Given the description of an element on the screen output the (x, y) to click on. 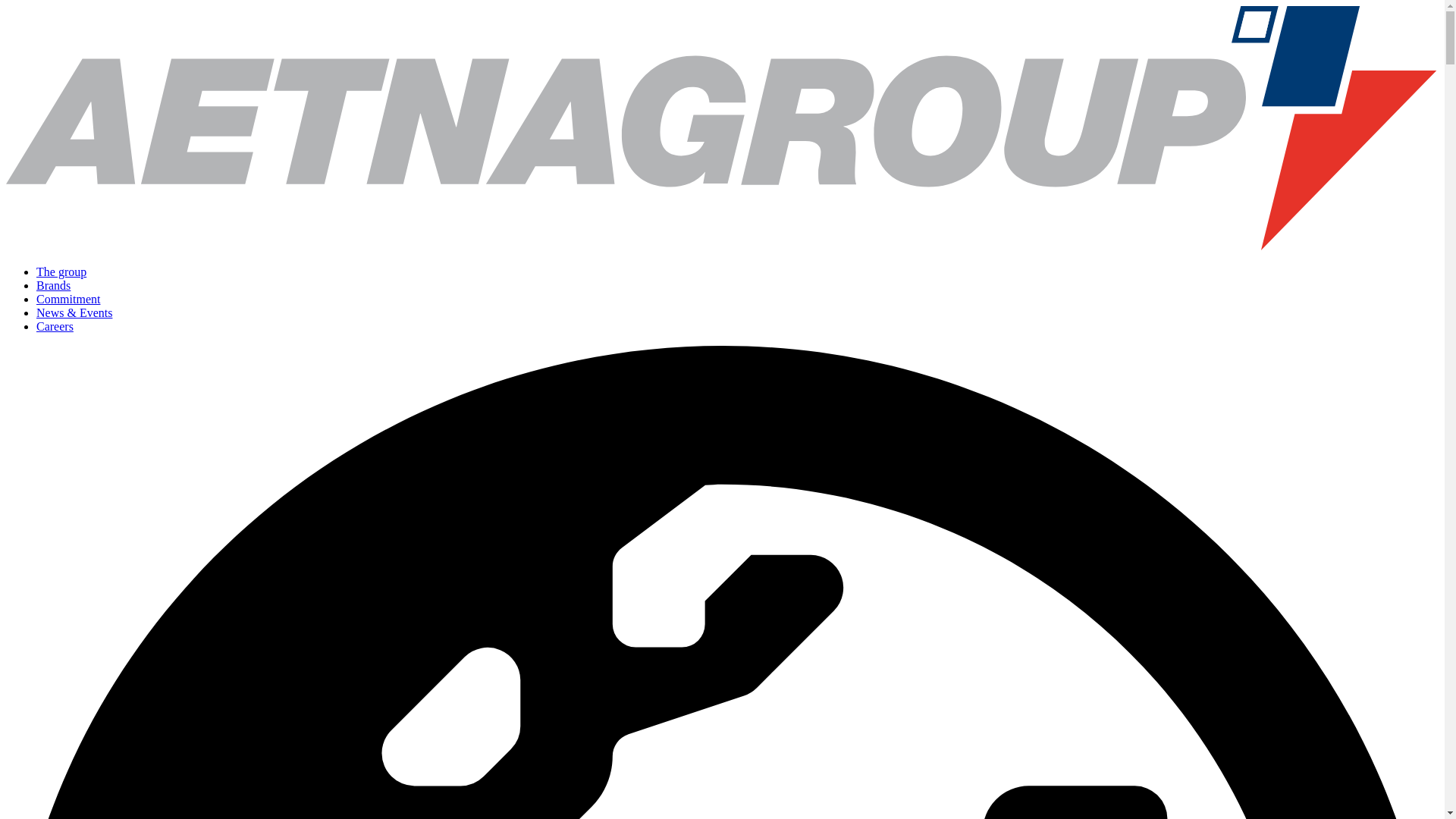
Commitment (68, 298)
The group (60, 271)
The group (60, 271)
Careers (55, 326)
Careers (55, 326)
Commitment (68, 298)
Brands (52, 285)
Brands (52, 285)
